Given the description of an element on the screen output the (x, y) to click on. 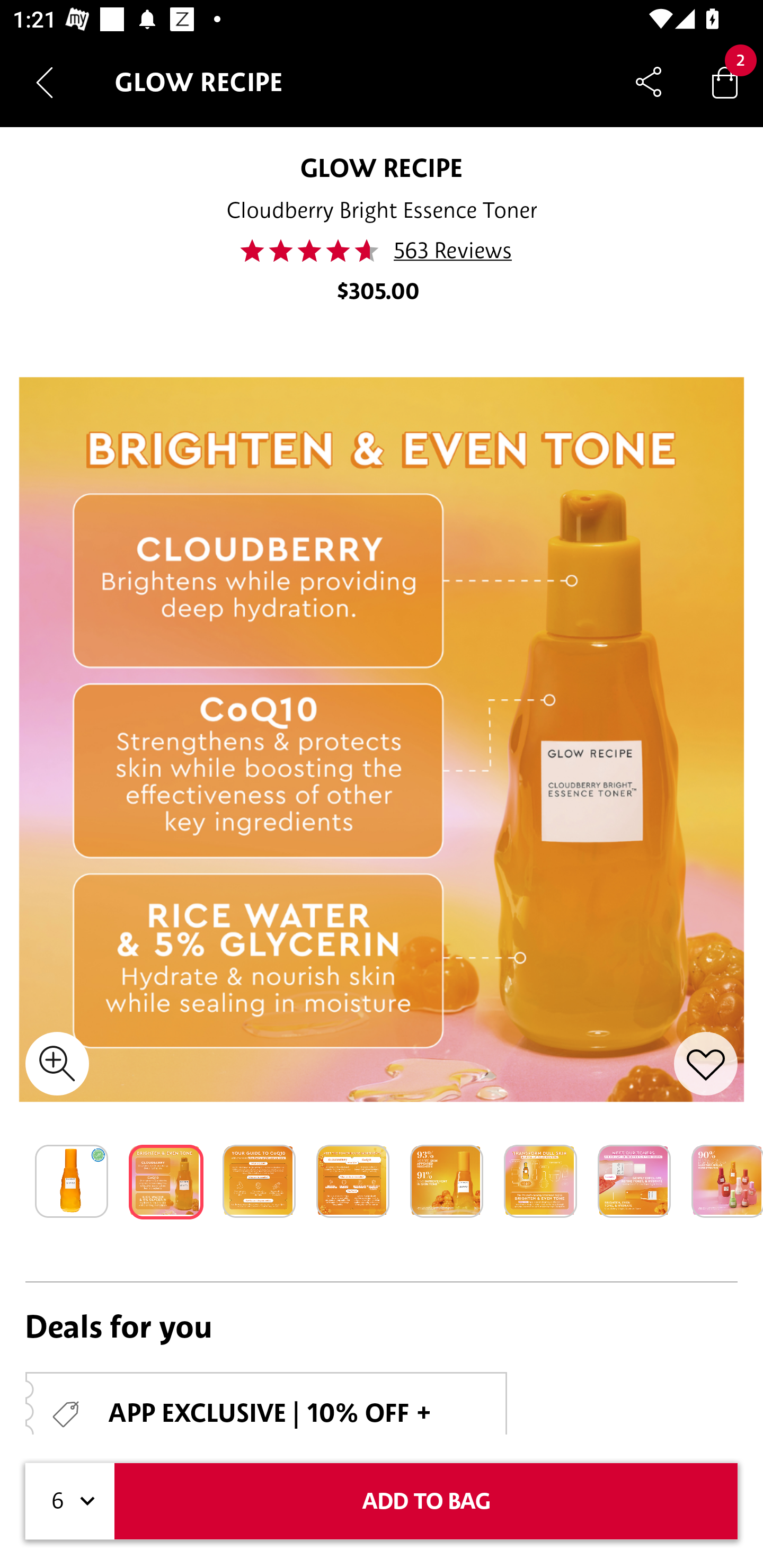
Navigate up (44, 82)
Share (648, 81)
Bag (724, 81)
GLOW RECIPE (381, 167)
46.0 563 Reviews (381, 250)
6 (69, 1500)
ADD TO BAG (425, 1500)
